Given the description of an element on the screen output the (x, y) to click on. 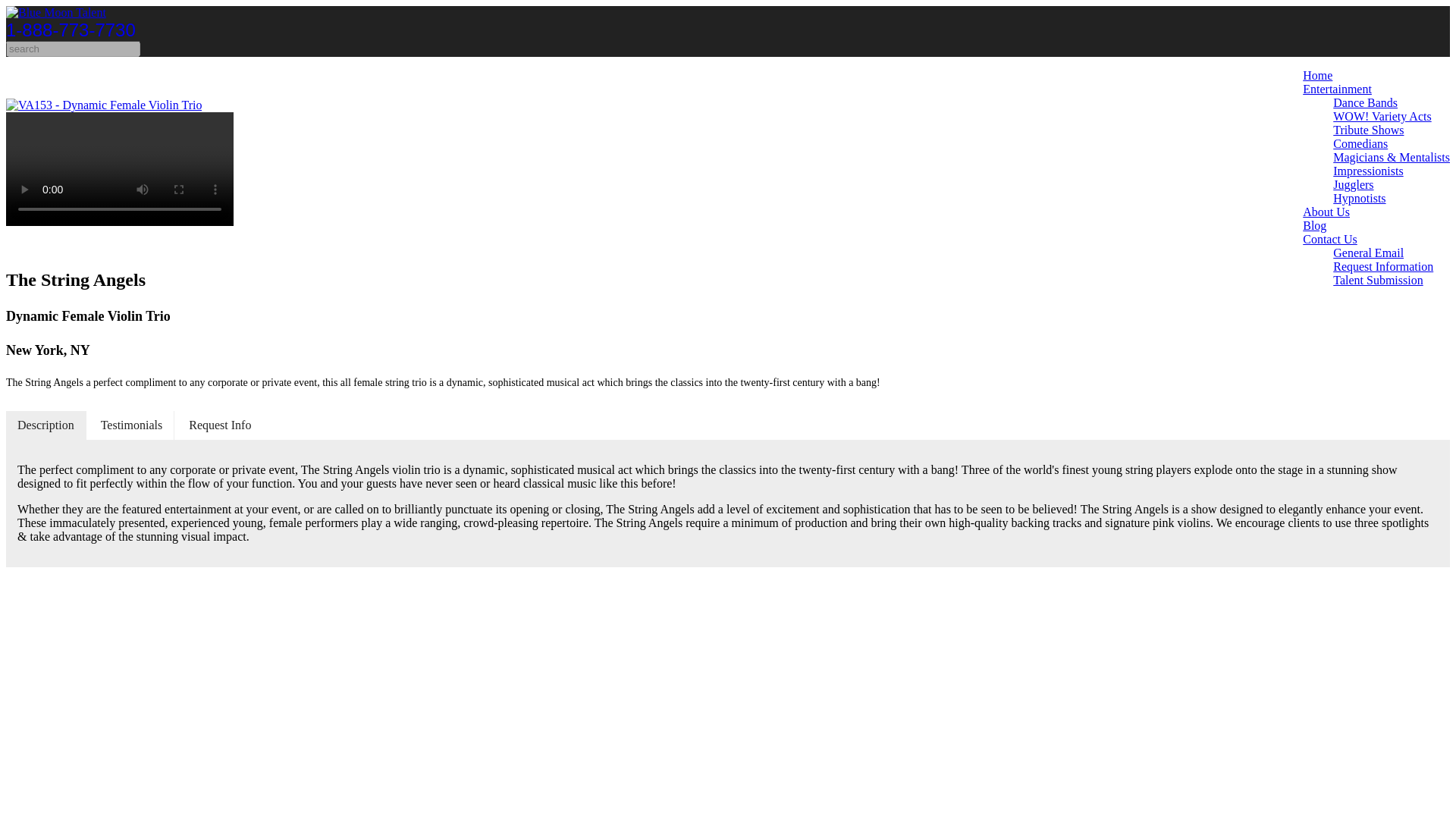
General Email (1368, 252)
Entertainment (1337, 88)
Comedians (1360, 143)
Hypnotists (1359, 197)
Dance Bands (1365, 102)
Impressionists (1368, 170)
1-888-773-7730 (70, 29)
Talent Submission (1377, 279)
Contact Us (1329, 238)
Request Information (1382, 266)
The String Angels (103, 104)
Home (1317, 74)
About Us (1326, 211)
WOW! Variety Acts (1382, 115)
Tribute Shows (1368, 129)
